Given the description of an element on the screen output the (x, y) to click on. 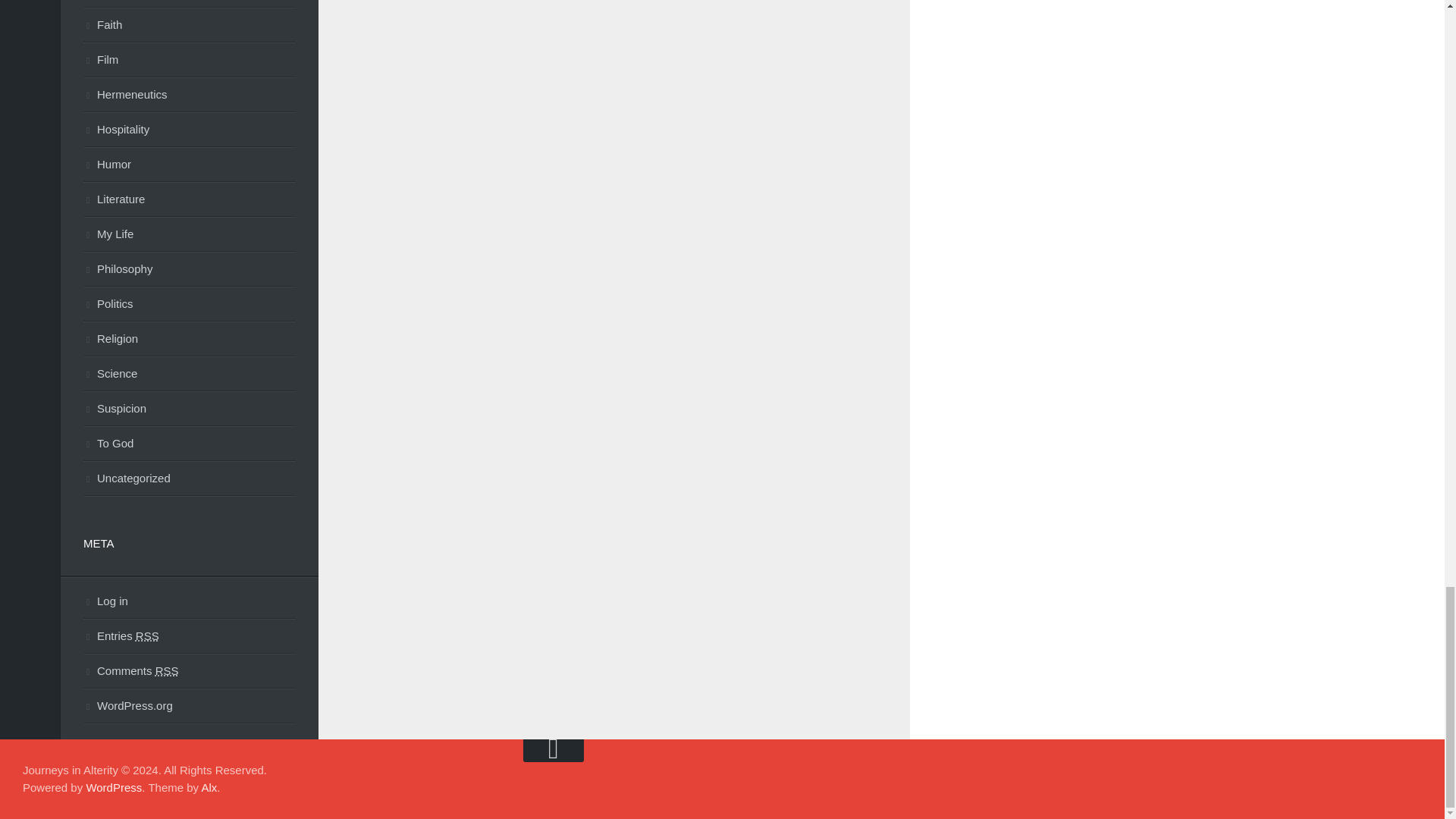
Really Simple Syndication (146, 635)
Really Simple Syndication (167, 670)
